Given the description of an element on the screen output the (x, y) to click on. 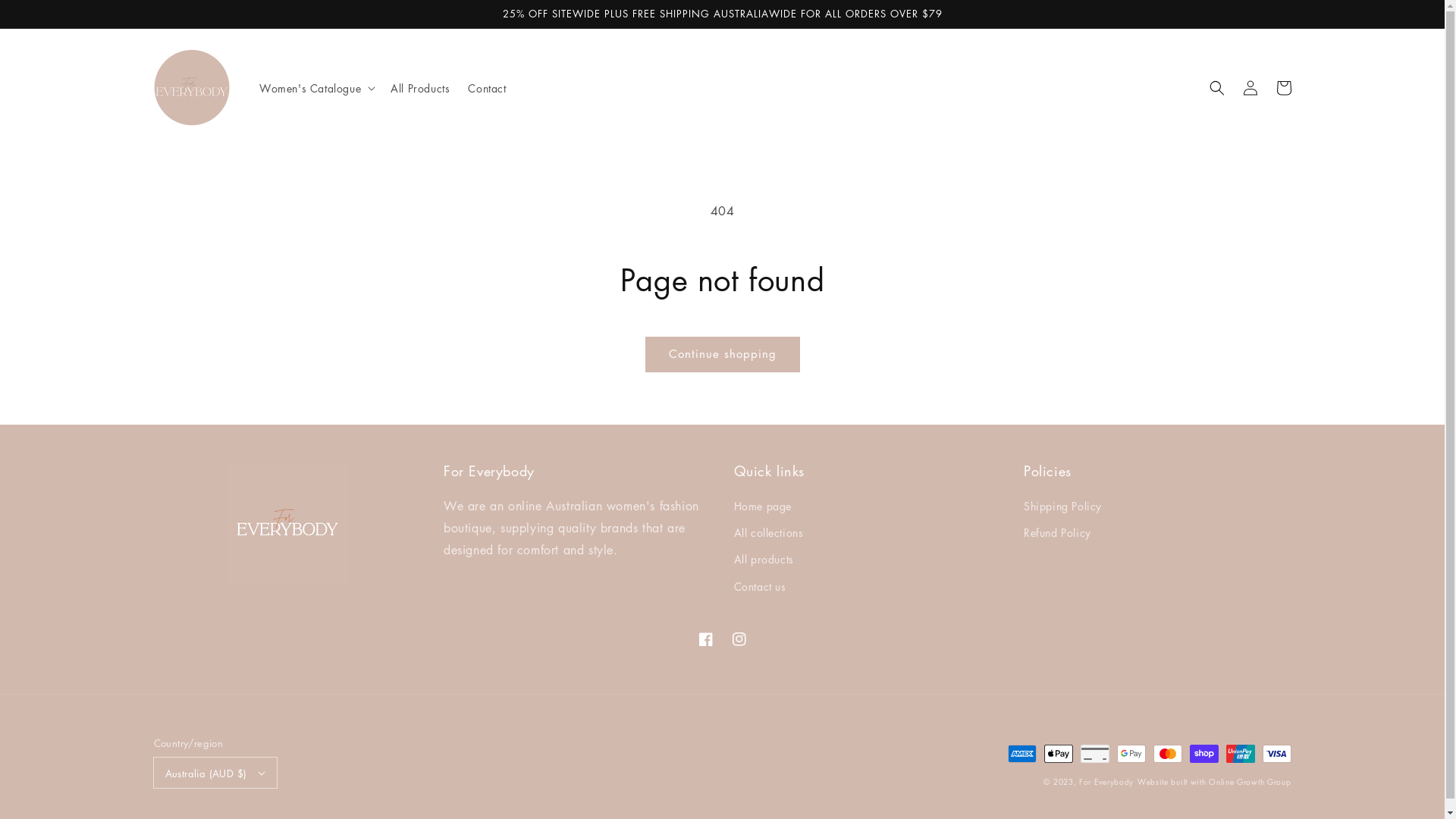
Instagram Element type: text (738, 638)
Home page Element type: text (762, 507)
All Products Element type: text (419, 87)
For Everybody Element type: text (1106, 781)
Continue shopping Element type: text (722, 354)
Shipping Policy Element type: text (1062, 507)
Cart Element type: text (1282, 87)
Contact Element type: text (486, 87)
Website built with Online Growth Group Element type: text (1214, 781)
Refund Policy Element type: text (1057, 532)
Contact us Element type: text (760, 586)
All products Element type: text (763, 559)
All collections Element type: text (768, 532)
Facebook Element type: text (704, 638)
Australia (AUD $) Element type: text (214, 772)
Log in Element type: text (1249, 87)
